Given the description of an element on the screen output the (x, y) to click on. 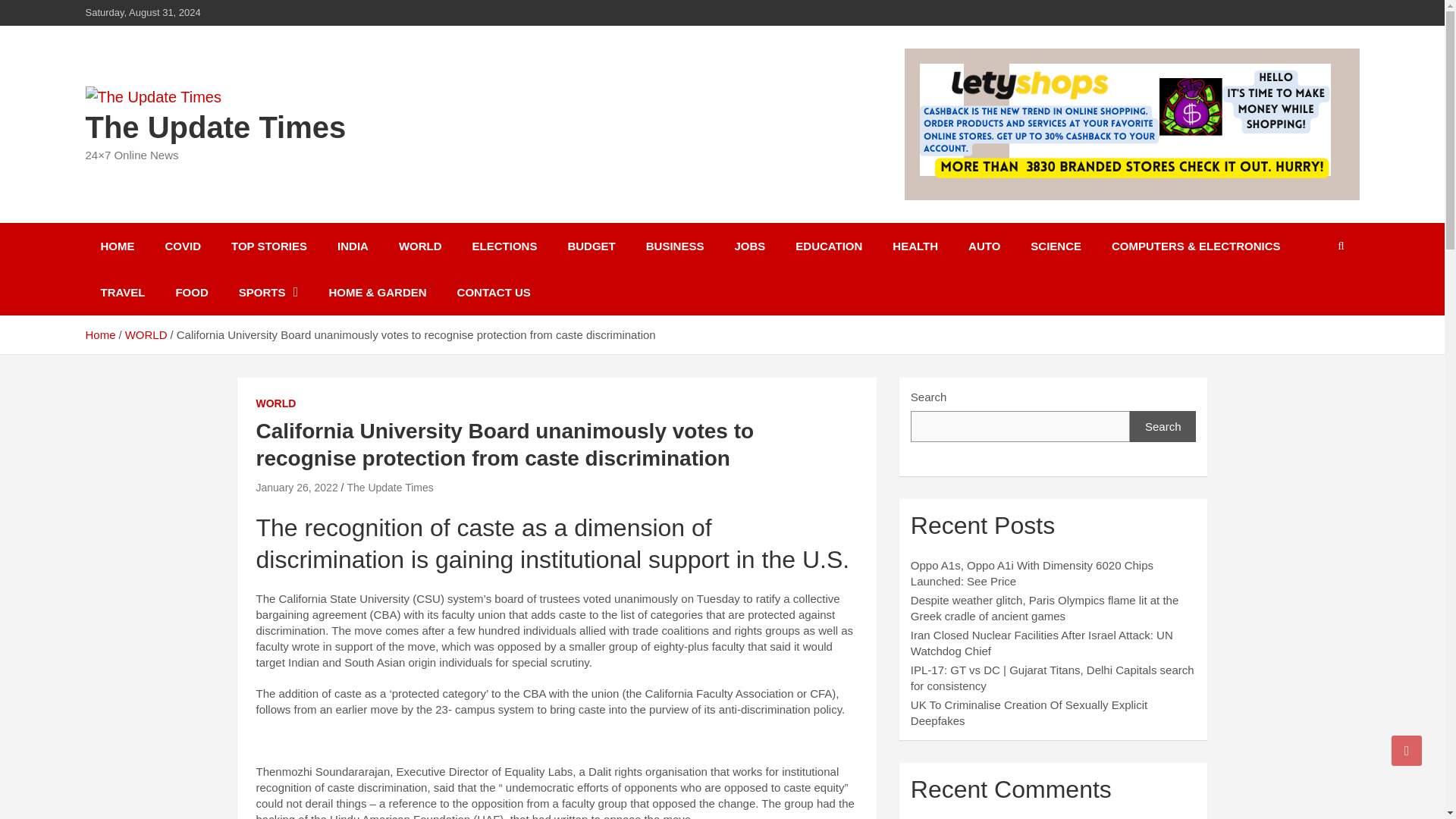
TOP STORIES (268, 245)
COVID (182, 245)
SCIENCE (1055, 245)
WORLD (146, 334)
EDUCATION (828, 245)
WORLD (420, 245)
INDIA (352, 245)
The Update Times (215, 127)
JOBS (749, 245)
